Given the description of an element on the screen output the (x, y) to click on. 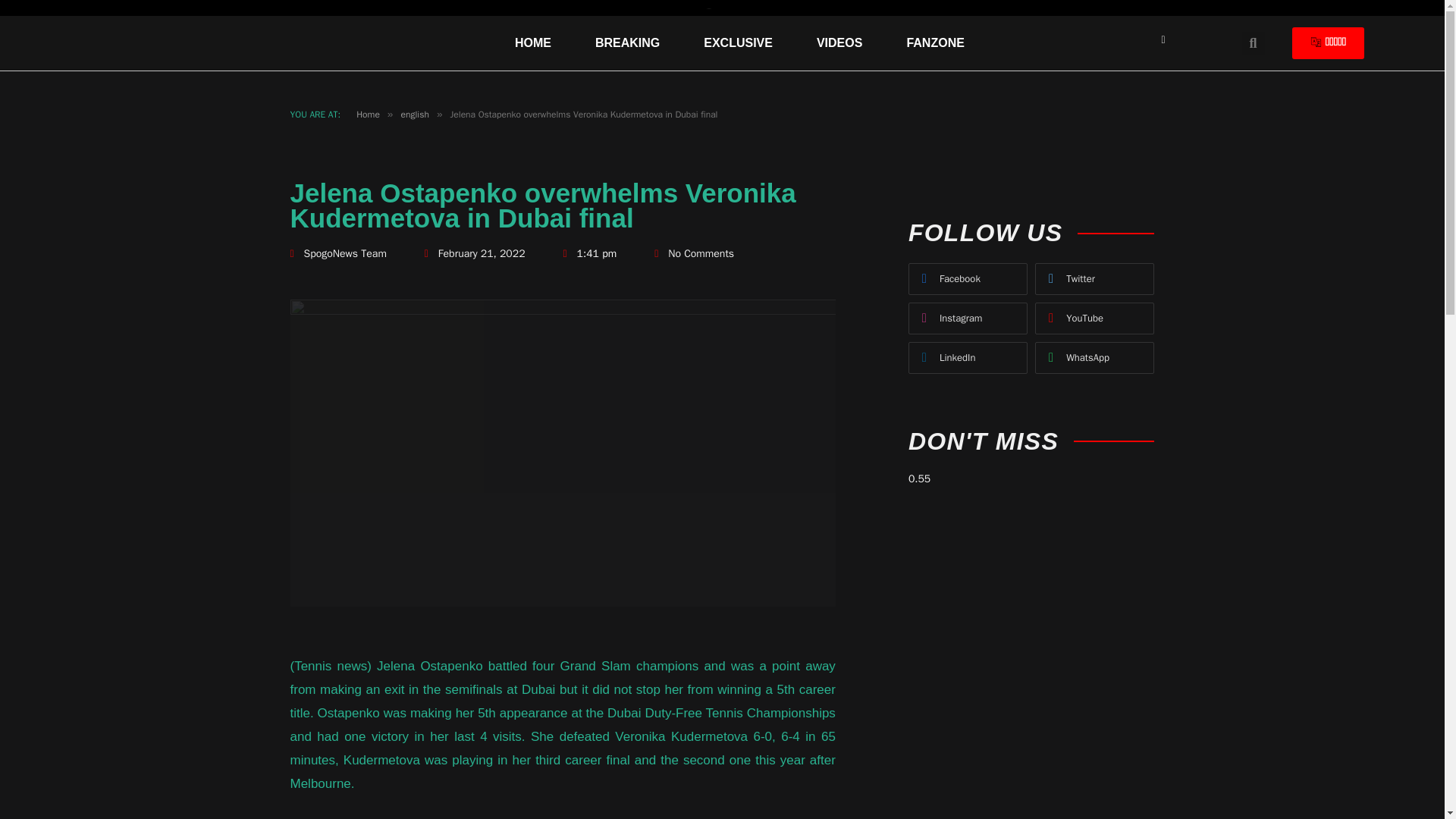
February 21, 2022 (475, 253)
VIDEOS (839, 43)
HOME (532, 43)
Switch to Light Design. (1163, 40)
Home (368, 114)
No Comments (693, 253)
SpogoNews Team (337, 253)
english (414, 114)
BREAKING (627, 43)
FANZONE (935, 43)
